Given the description of an element on the screen output the (x, y) to click on. 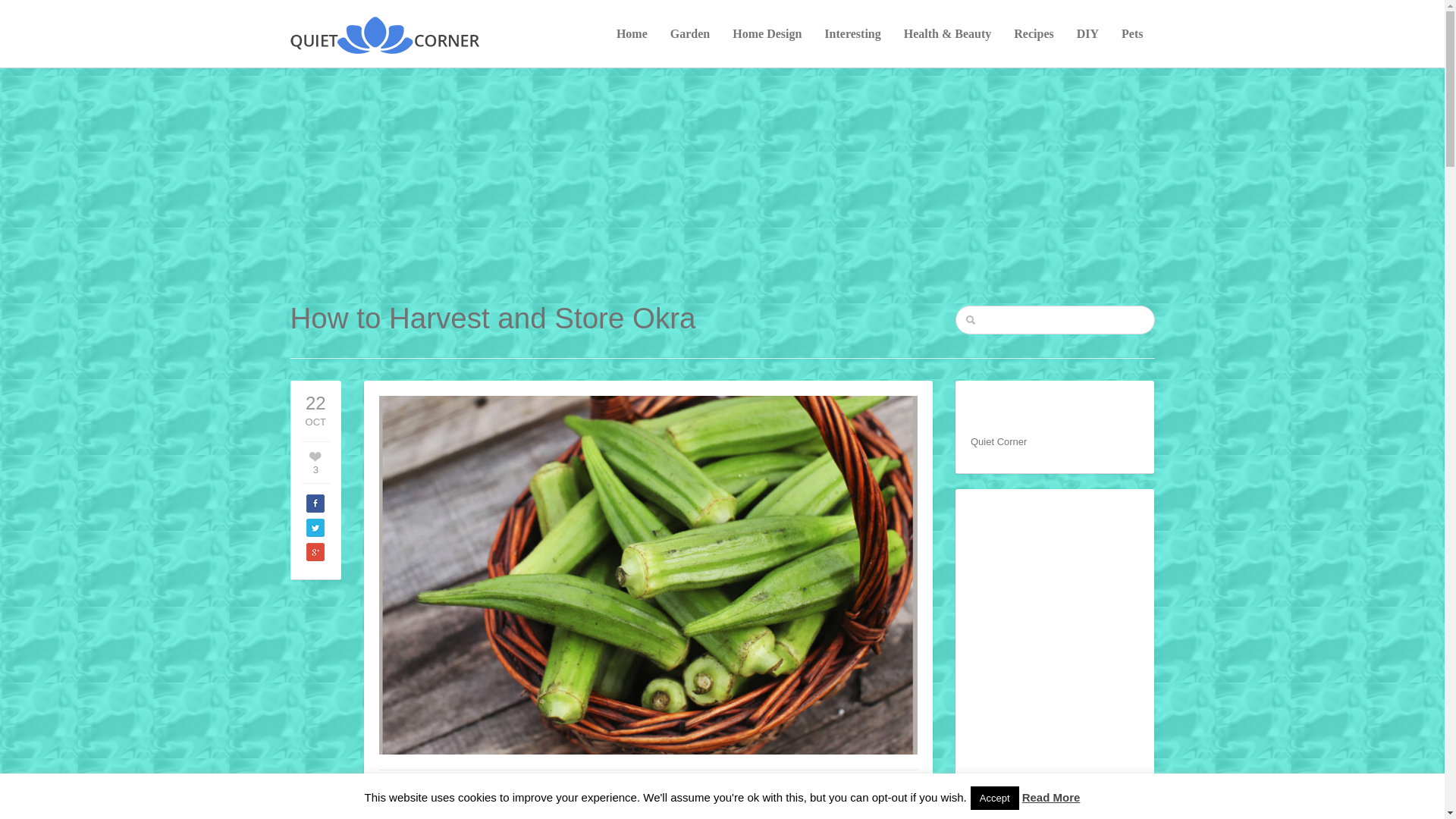
Posts by Kejsy (402, 788)
